Given the description of an element on the screen output the (x, y) to click on. 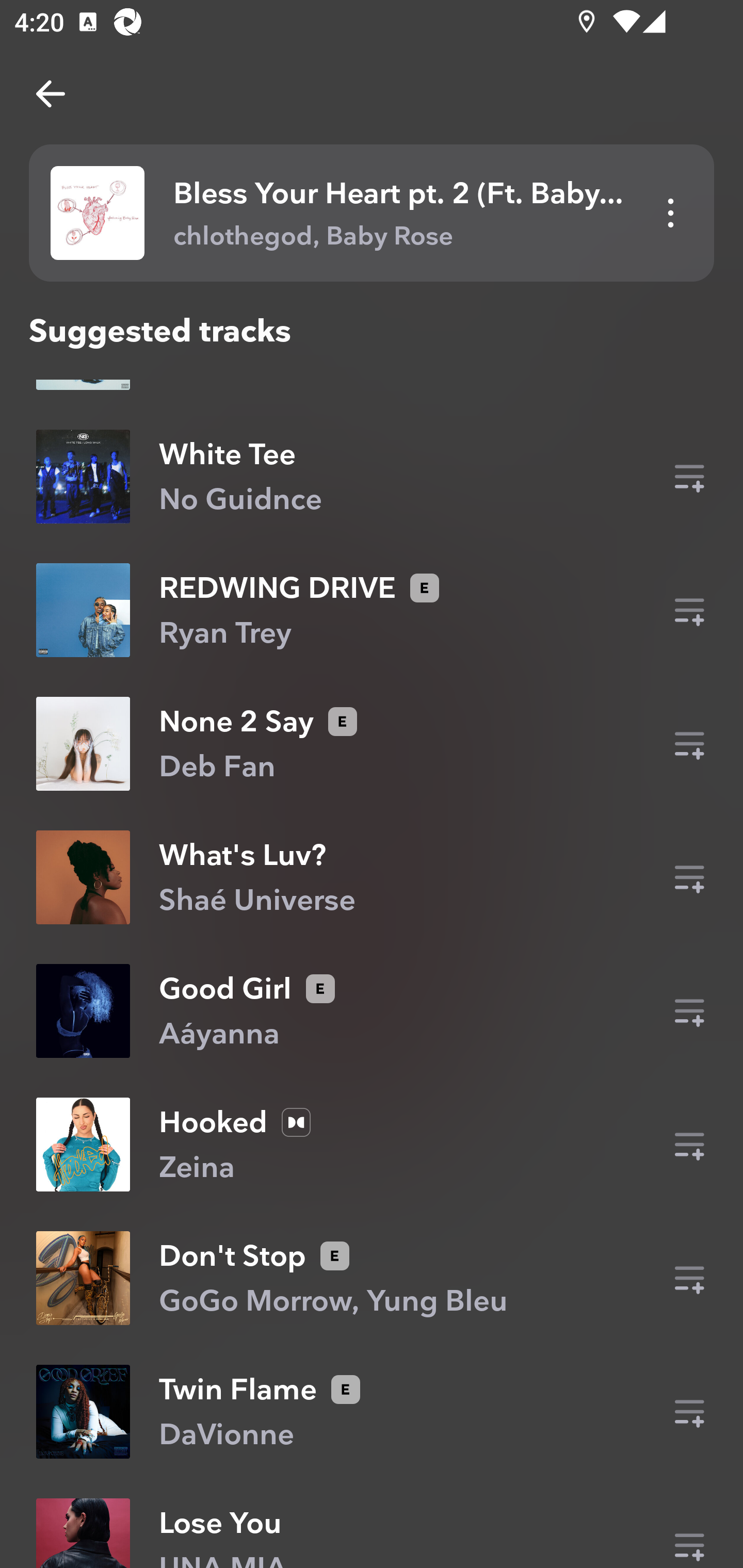
White Tee No Guidnce (371, 476)
REDWING DRIVE Ryan Trey (371, 609)
None 2 Say Deb Fan (371, 743)
What's Luv? Shaé Universe (371, 877)
Good Girl Aáyanna (371, 1011)
Hooked Zeina (371, 1144)
Don't Stop GoGo Morrow, Yung Bleu (371, 1277)
Twin Flame DaVionne (371, 1411)
Lose You UNA MIA (371, 1528)
